Given the description of an element on the screen output the (x, y) to click on. 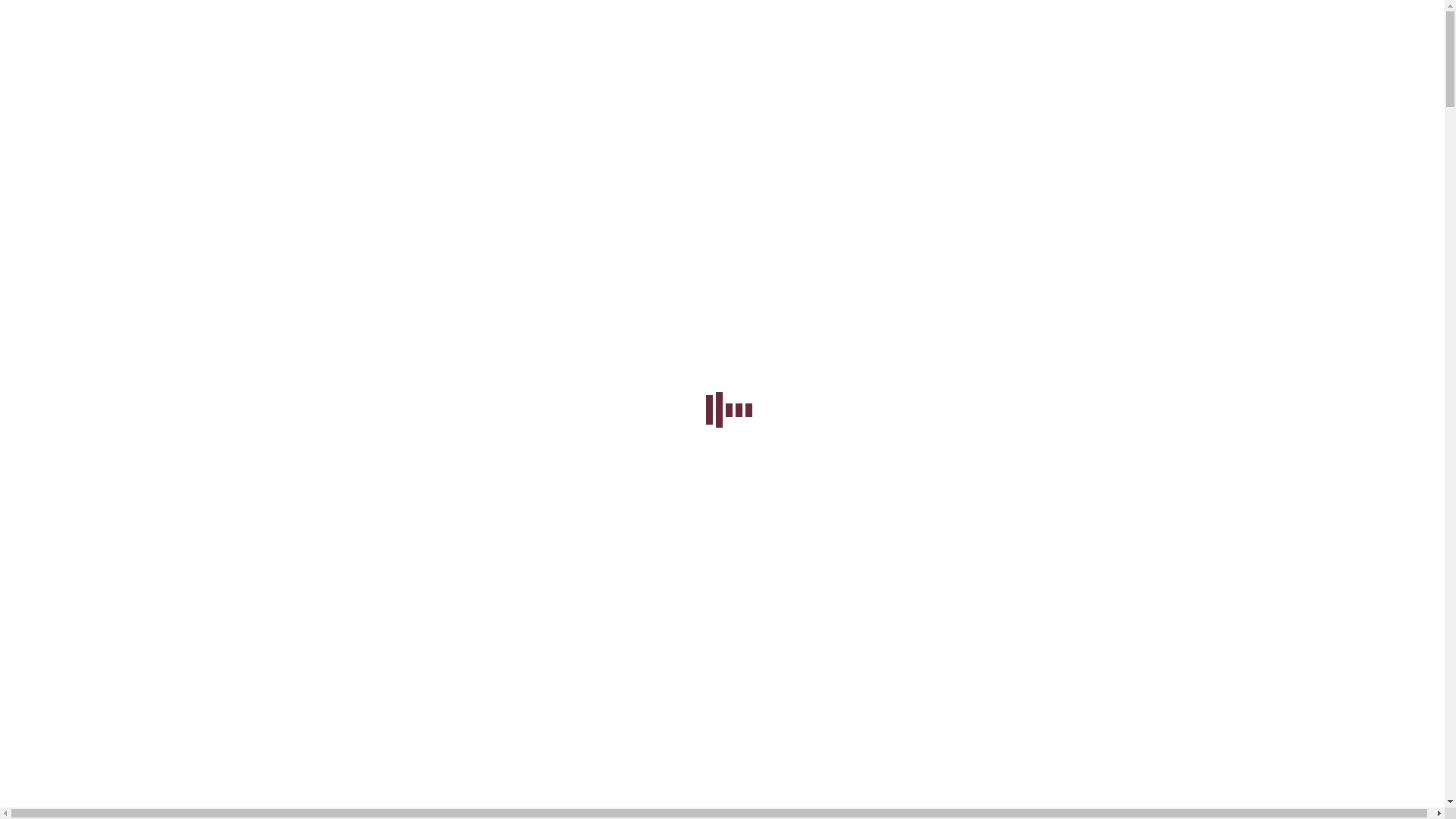
Contact Element type: text (93, 285)
Treetops Element type: text (125, 203)
BOOK NOW Element type: text (76, 311)
Skip to content Element type: text (722, 12)
Packages Element type: text (96, 244)
Accommodation Element type: text (114, 162)
Dreamwood Element type: text (134, 217)
Silverbrook Element type: text (133, 176)
Explore Element type: text (93, 272)
Home Element type: text (88, 149)
Indulgence Element type: text (101, 258)
Testimonials Element type: text (135, 231)
The Ferns Element type: text (128, 190)
